Given the description of an element on the screen output the (x, y) to click on. 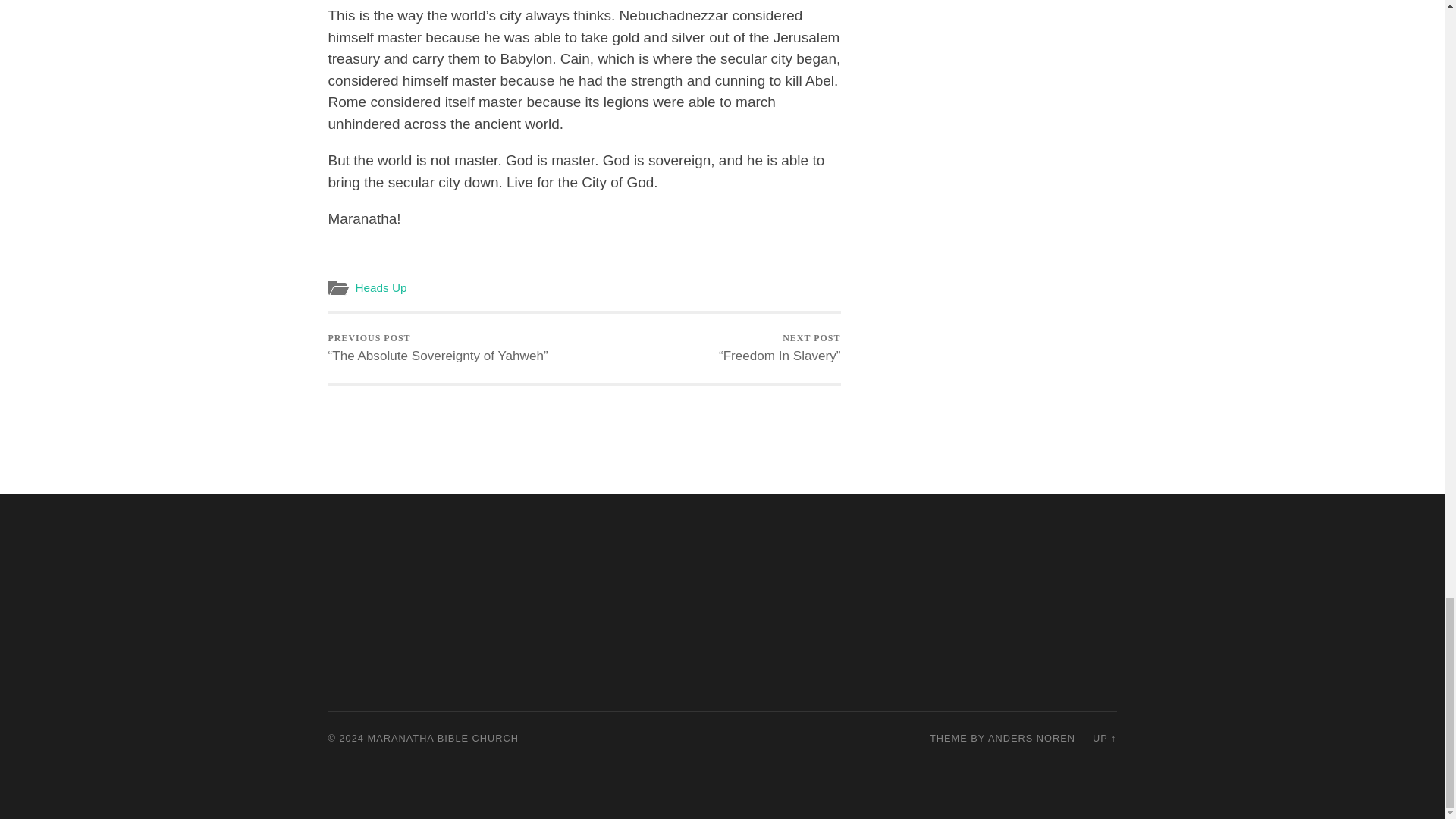
Heads Up (380, 287)
ANDERS NOREN (1031, 737)
MARANATHA BIBLE CHURCH (443, 737)
To the top (1104, 737)
